Given the description of an element on the screen output the (x, y) to click on. 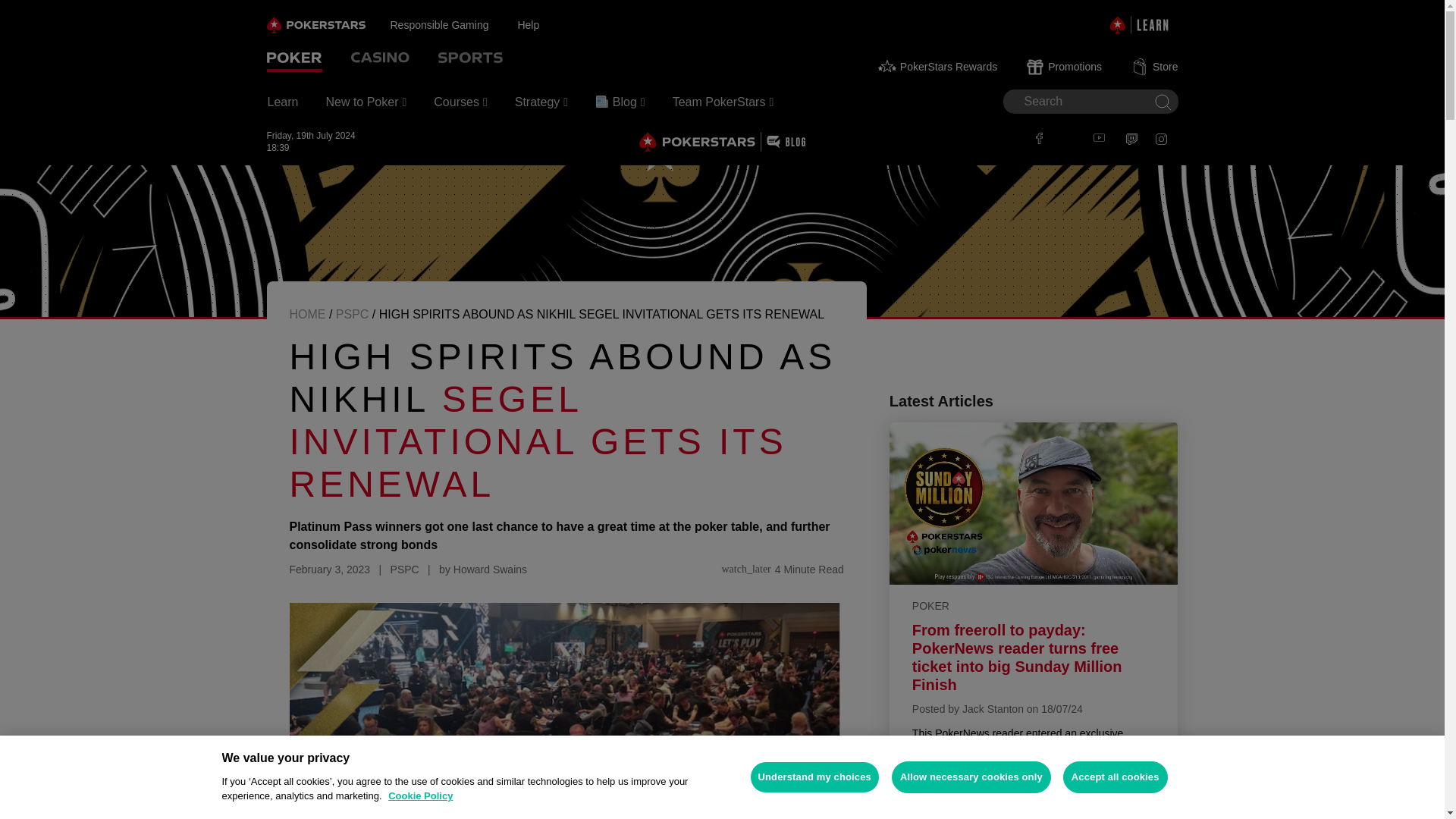
Promotions (1064, 66)
Sports (470, 58)
PokerStars Rewards (937, 66)
Blog (620, 101)
Store (1154, 66)
Casino (379, 58)
Learn (282, 101)
Strategy (540, 101)
Help (541, 24)
Poker (293, 58)
Responsible Gaming (453, 24)
New to Poker (366, 101)
Courses (460, 101)
